Given the description of an element on the screen output the (x, y) to click on. 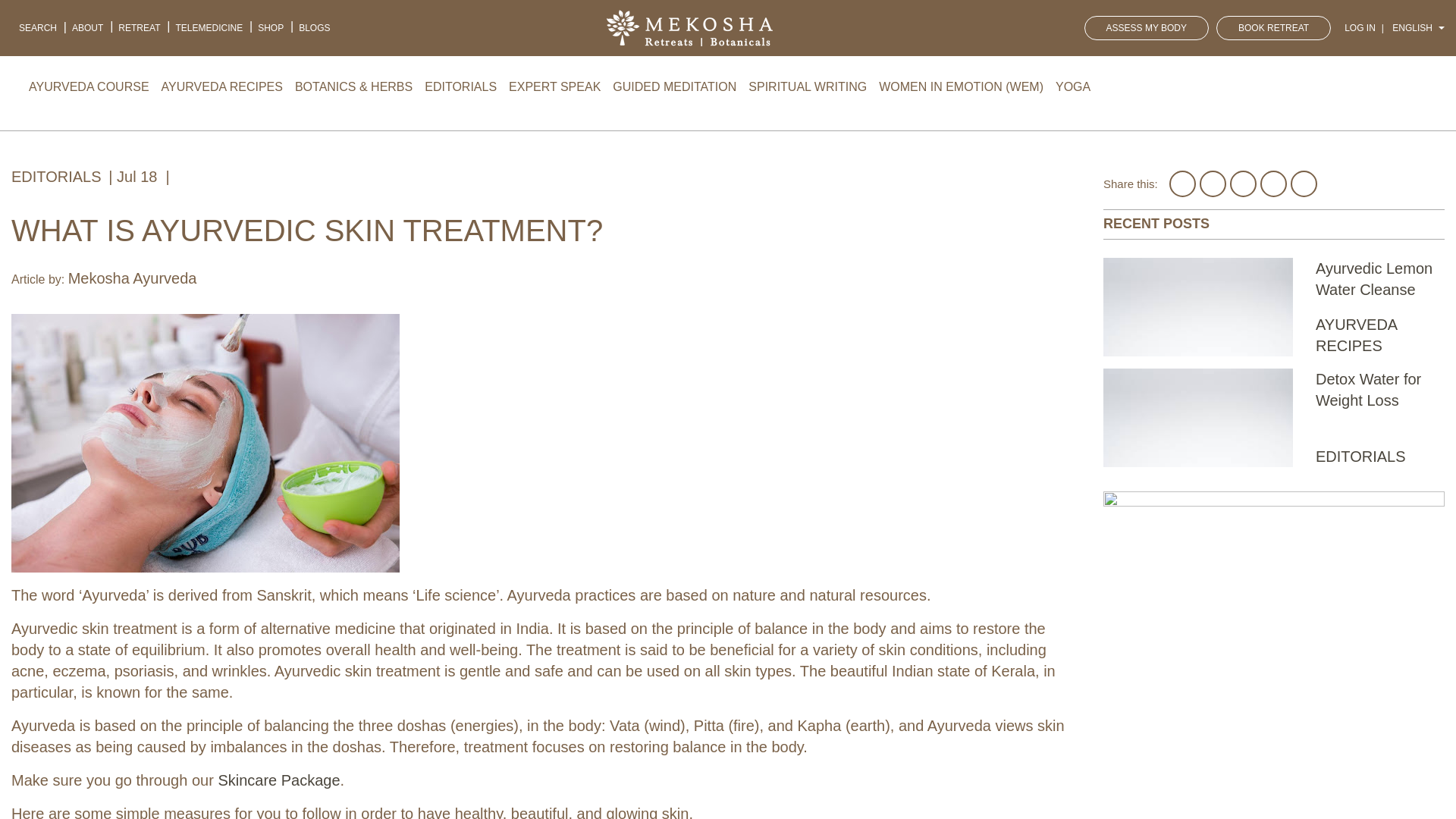
ABOUT (87, 27)
SEARCH (37, 27)
BOOK RETREAT (1272, 27)
ASSESS MY BODY (1146, 27)
RETREAT (138, 27)
SHOP (270, 27)
LOG IN (1359, 28)
TELEMEDICINE (208, 27)
BLOGS (314, 27)
